Given the description of an element on the screen output the (x, y) to click on. 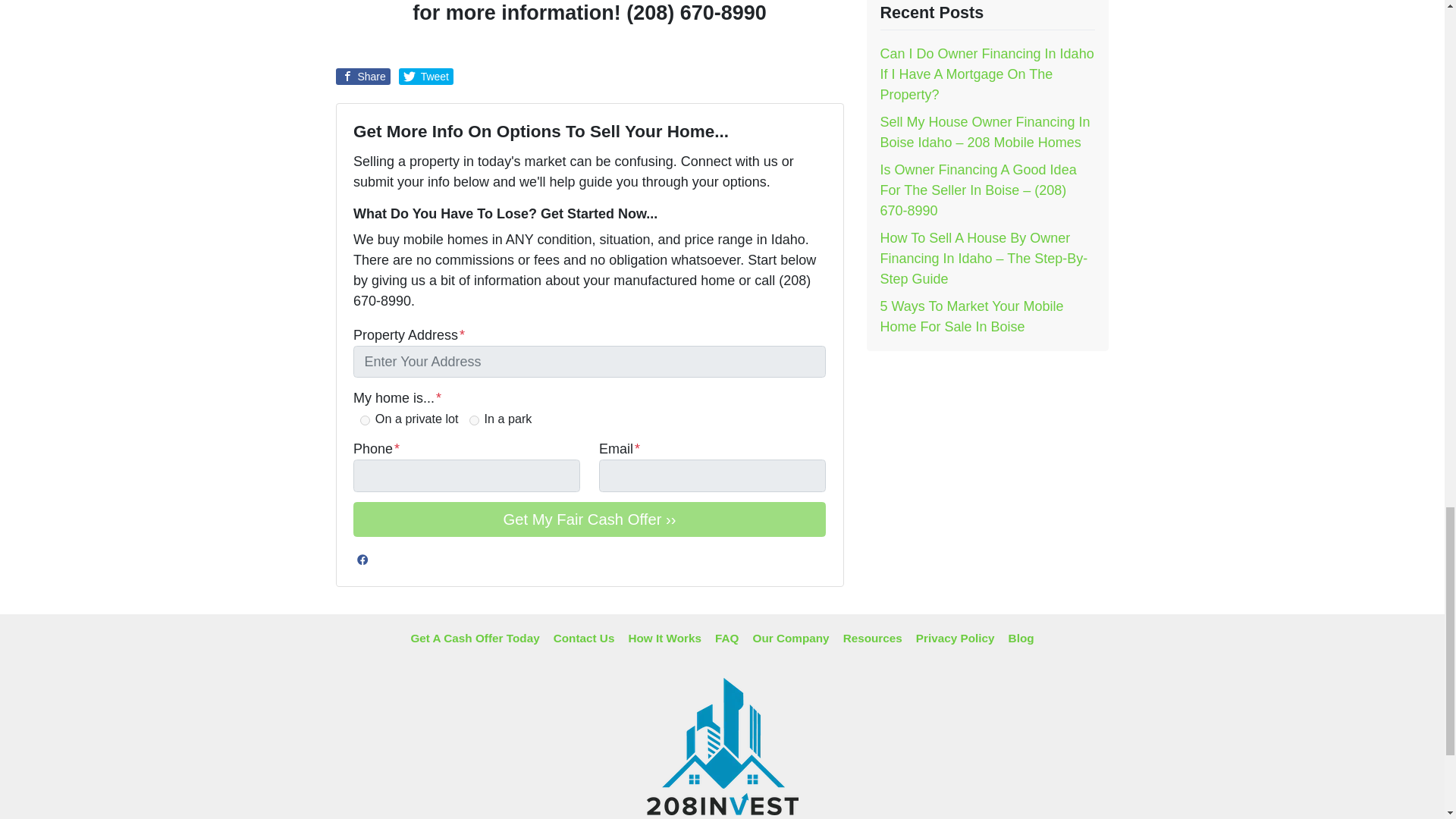
Share (362, 76)
Blog (1021, 639)
How It Works (664, 639)
Resources (871, 639)
Contact Us (584, 639)
Share on Facebook (362, 76)
Get A Cash Offer Today (474, 639)
On a private lot (364, 420)
Privacy Policy (954, 639)
Facebook (362, 559)
Share on Twitter (425, 76)
In a park (473, 420)
5 Ways To Market Your Mobile Home For Sale In Boise (970, 316)
Our Company (790, 639)
